Given the description of an element on the screen output the (x, y) to click on. 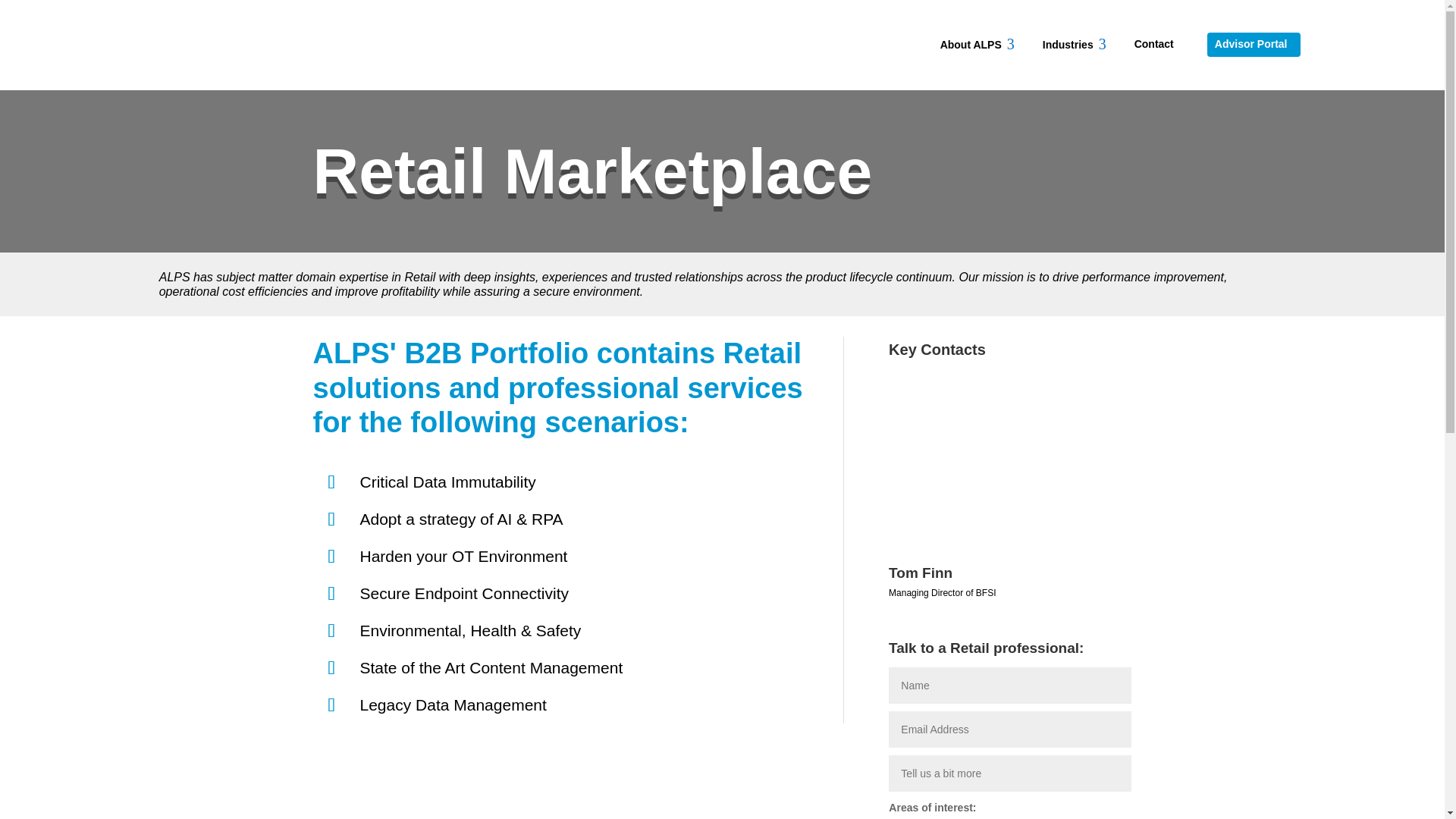
ALPS (197, 41)
Contact (977, 44)
Advisor Portal (1156, 43)
